Given the description of an element on the screen output the (x, y) to click on. 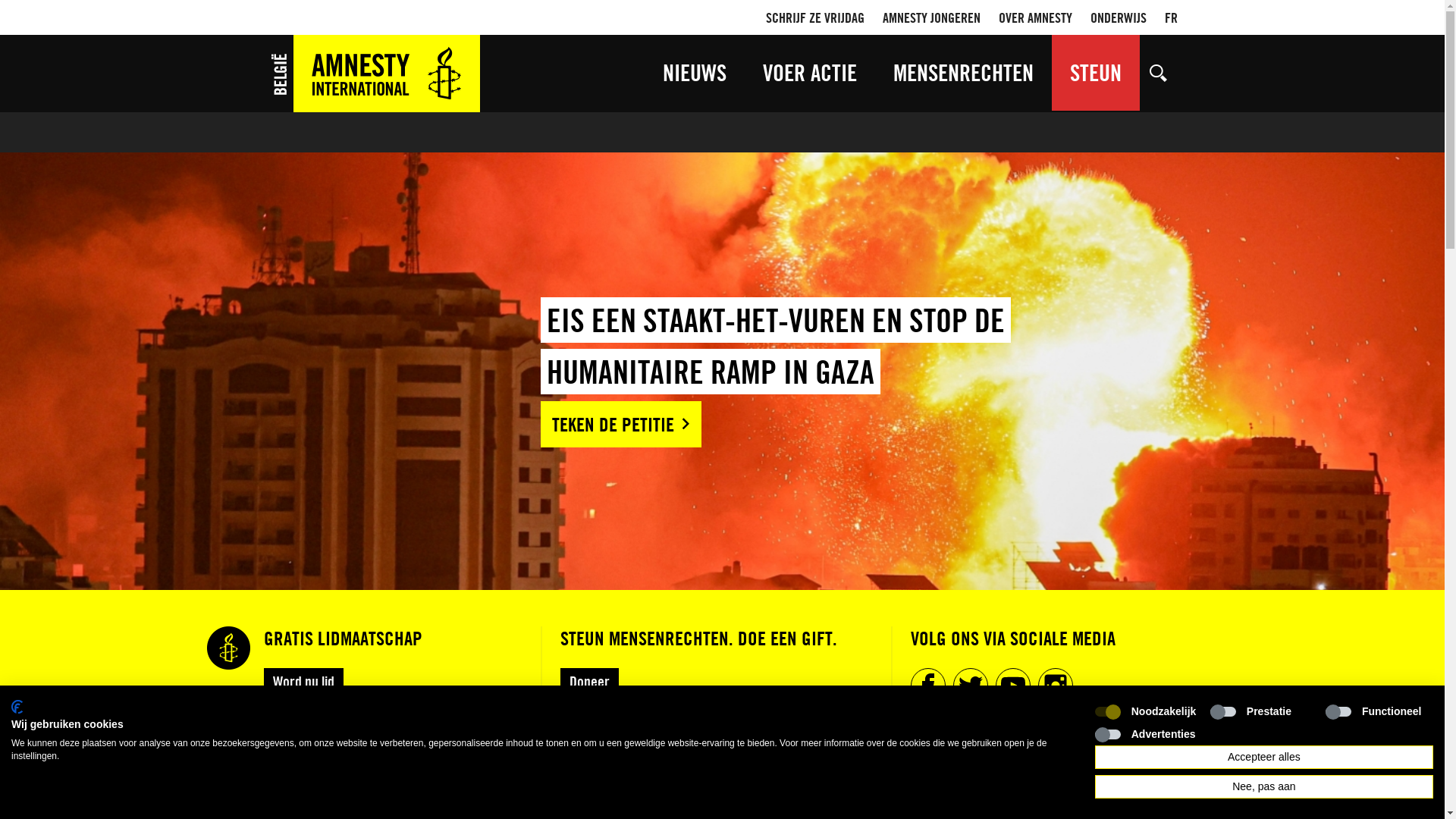
NIEUWS Element type: text (694, 72)
YOUTUBE Element type: text (1011, 685)
INSTAGRAM Element type: text (1054, 685)
STEUN Element type: text (1095, 72)
SCHRIJF ZE VRIJDAG Element type: text (814, 17)
OVER AMNESTY Element type: text (1034, 17)
AMNESTY JONGEREN Element type: text (931, 17)
Word nu lid Element type: text (303, 680)
FACEBOOK Element type: text (927, 685)
HOME Element type: text (372, 73)
Jump to navigation Element type: text (722, 18)
ZOEKEN Element type: text (1157, 72)
FR Element type: text (1170, 17)
TWITTER Element type: text (969, 685)
Nee, pas aan Element type: text (1264, 786)
Doneer Element type: text (588, 681)
MENSENRECHTEN Element type: text (963, 72)
Accepteer alles Element type: text (1264, 756)
VOER ACTIE Element type: text (809, 72)
ONDERWIJS Element type: text (1118, 17)
